Given the description of an element on the screen output the (x, y) to click on. 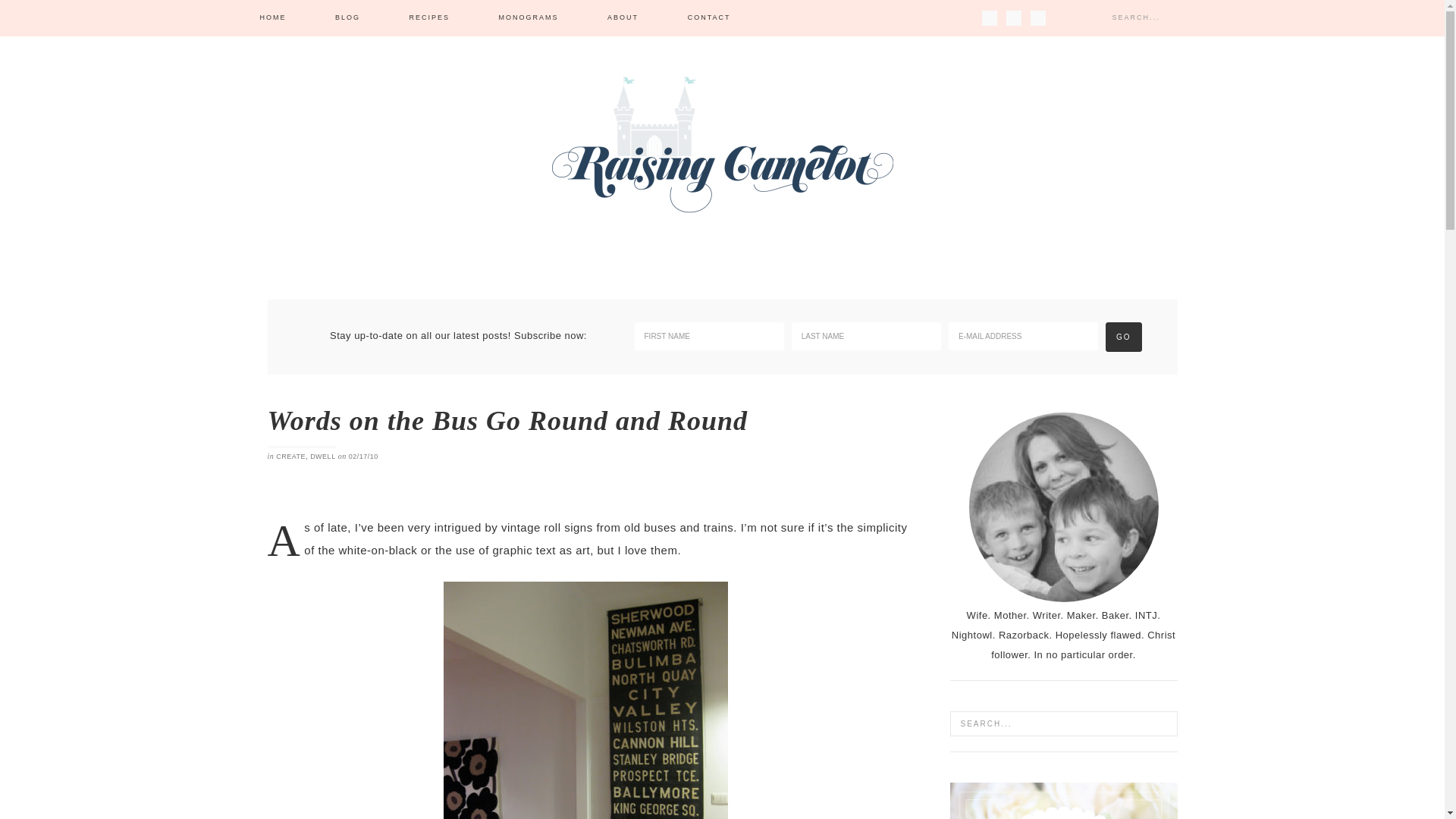
Go (1123, 337)
RECIPES (430, 18)
HOME (271, 18)
vintage roll signs (546, 526)
DWELL (323, 456)
CONTACT (709, 18)
ABOUT (623, 18)
Go (1123, 337)
BLOG (347, 18)
CREATE (290, 456)
MONOGRAMS (528, 18)
